Given the description of an element on the screen output the (x, y) to click on. 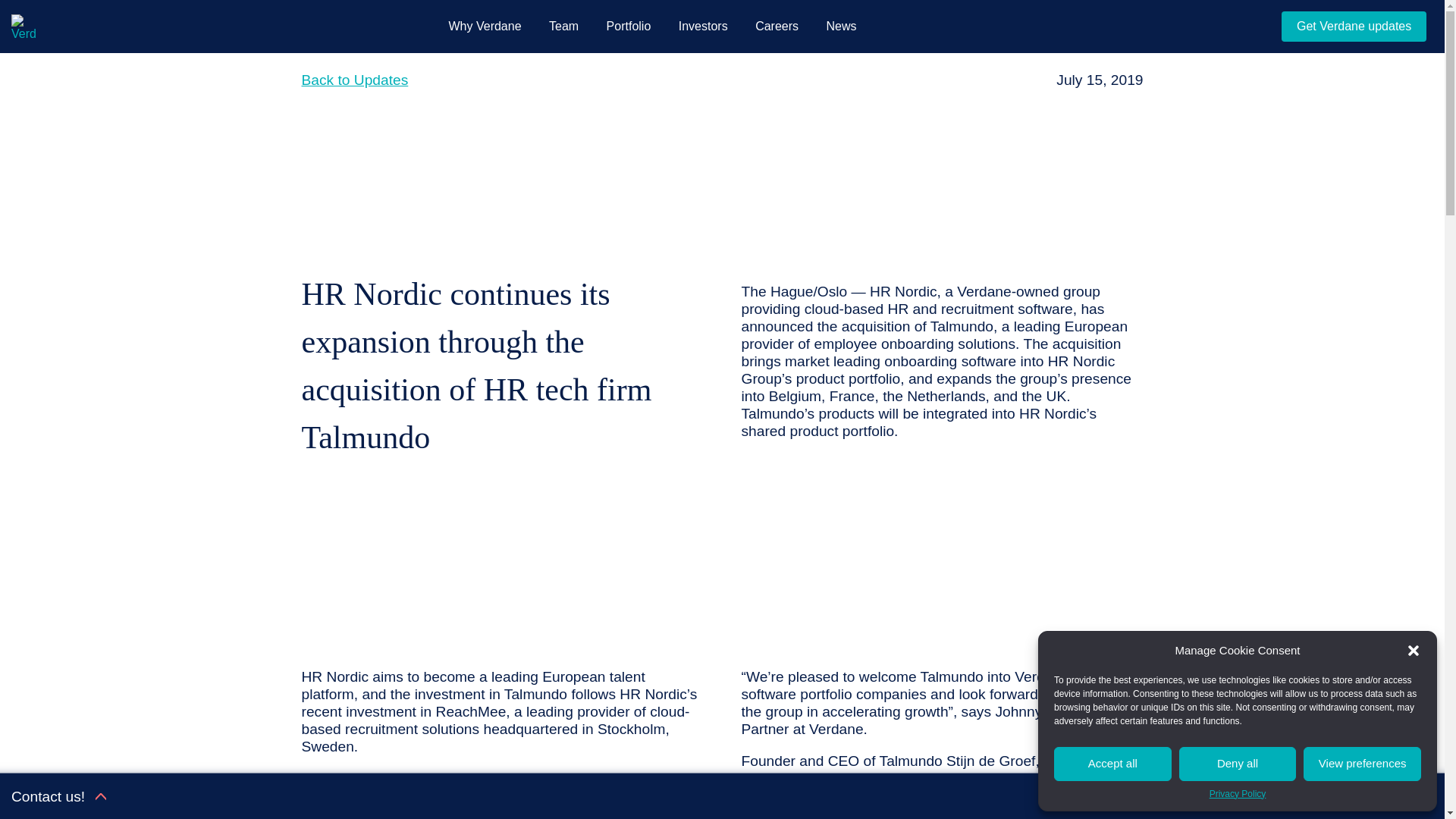
View preferences (1362, 763)
Why Verdane (484, 26)
Accept all (1113, 763)
Investors (702, 26)
Back to Updates (355, 79)
Careers (777, 26)
Find a team member (1363, 795)
Get Verdane updates (1353, 26)
Deny all (1238, 763)
Privacy Policy (1237, 793)
